Given the description of an element on the screen output the (x, y) to click on. 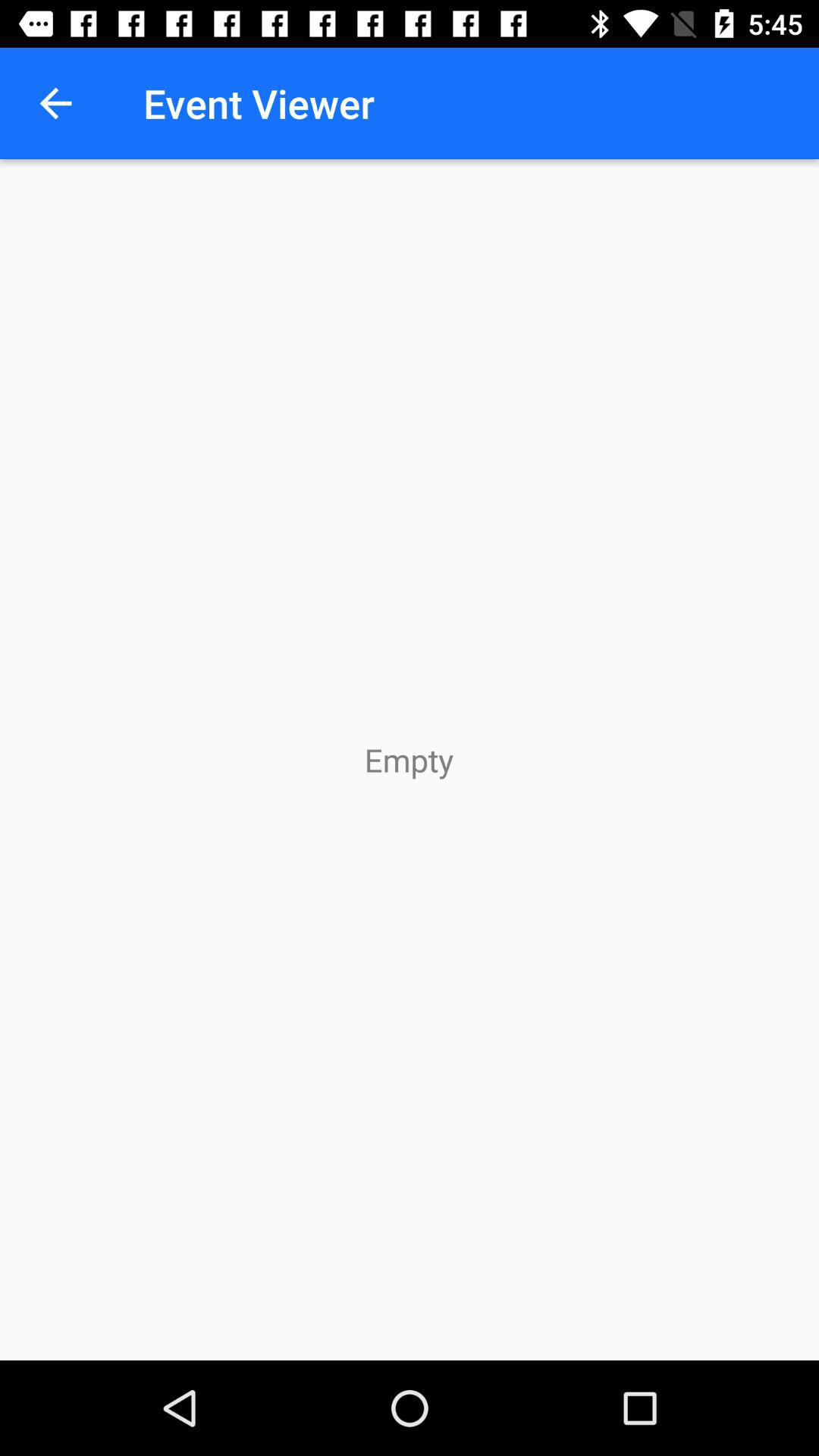
select item to the left of event viewer (55, 103)
